Given the description of an element on the screen output the (x, y) to click on. 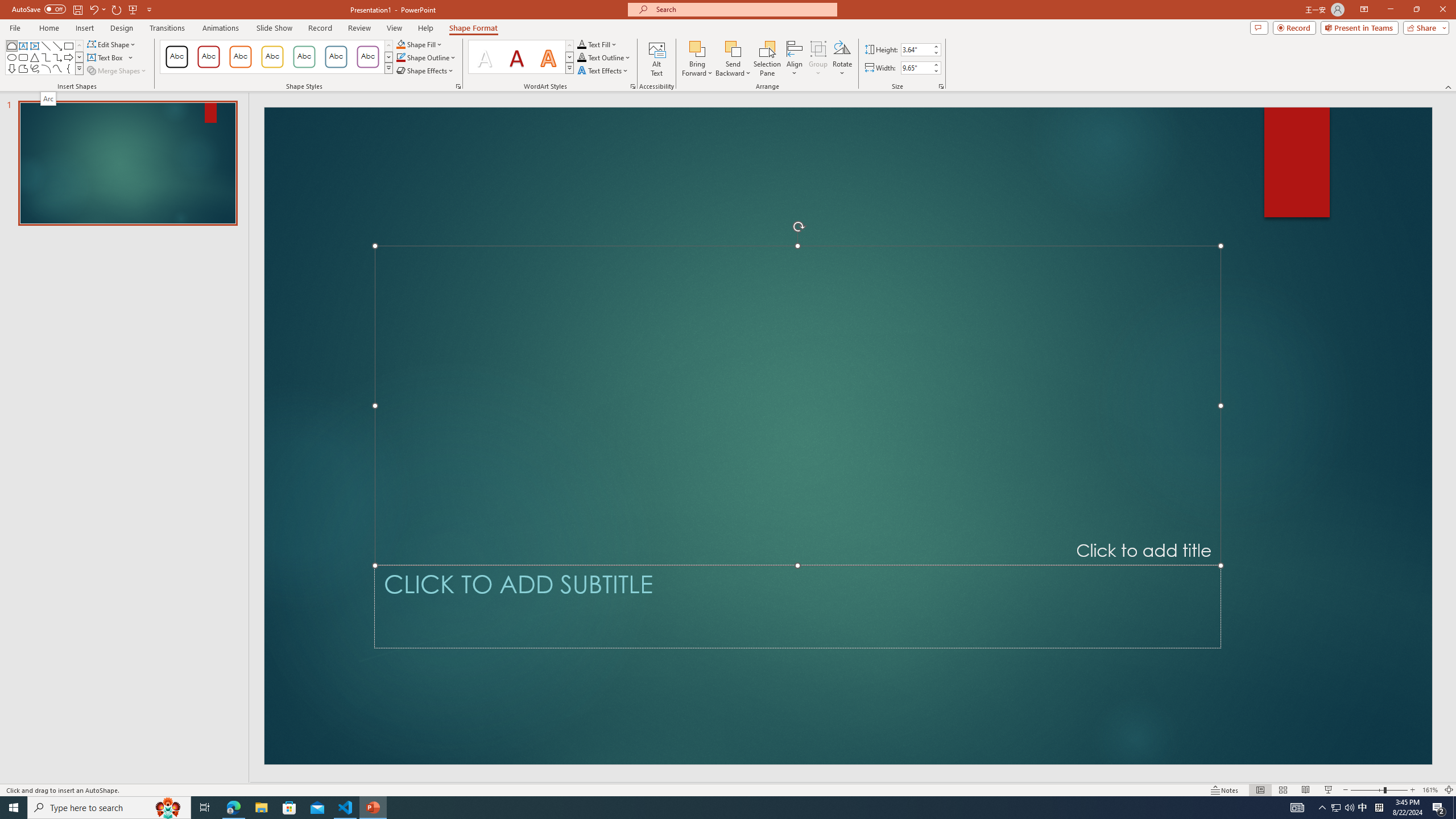
Bring Forward (697, 58)
Fill: White, Text color 1; Shadow (484, 56)
Colored Outline - Black, Dark 1 (176, 56)
Shape Height (915, 49)
Colored Outline - Dark Red, Accent 1 (208, 56)
